Given the description of an element on the screen output the (x, y) to click on. 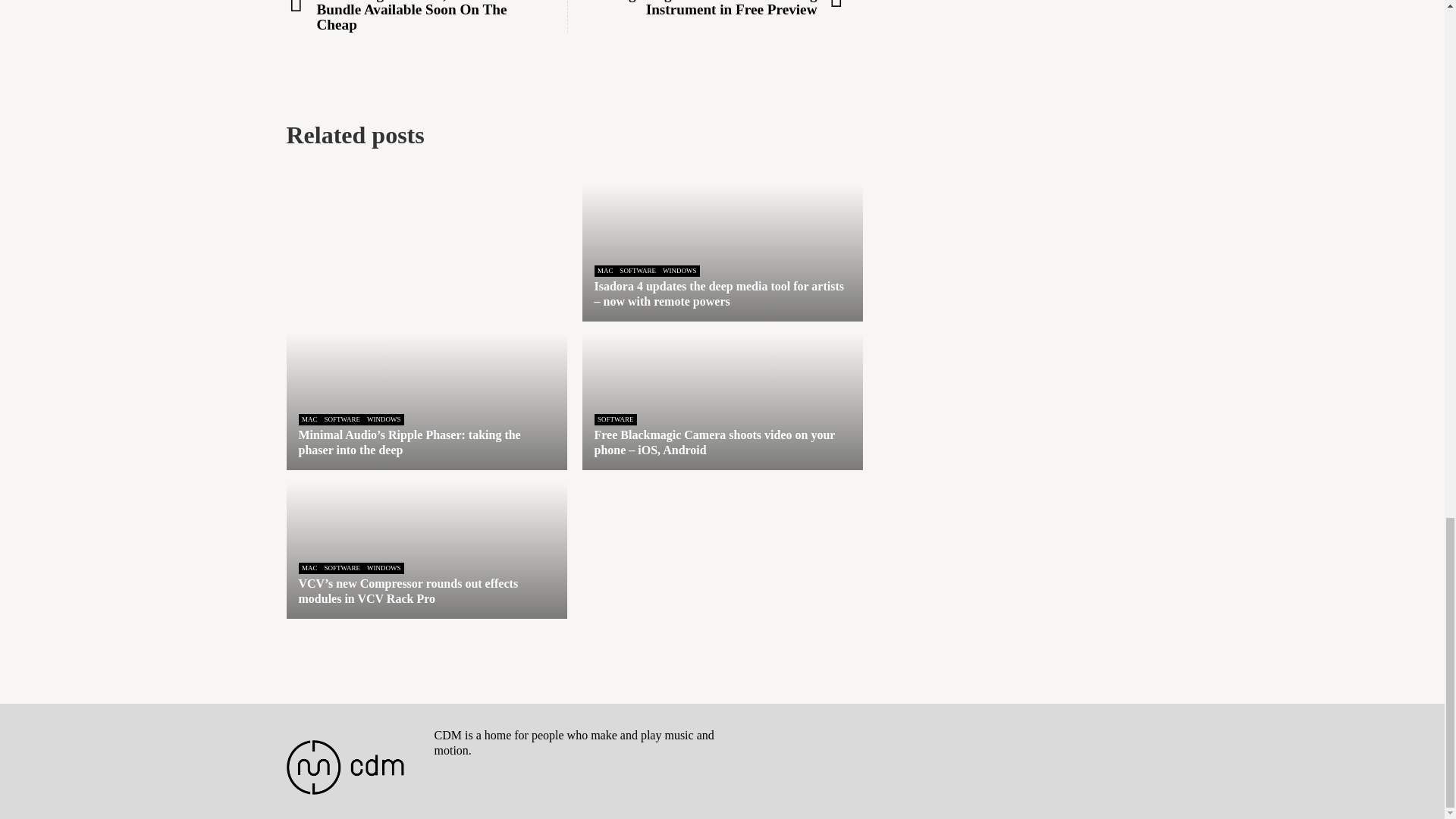
MAC (605, 270)
WINDOWS (679, 270)
SOFTWARE (637, 270)
